Given the description of an element on the screen output the (x, y) to click on. 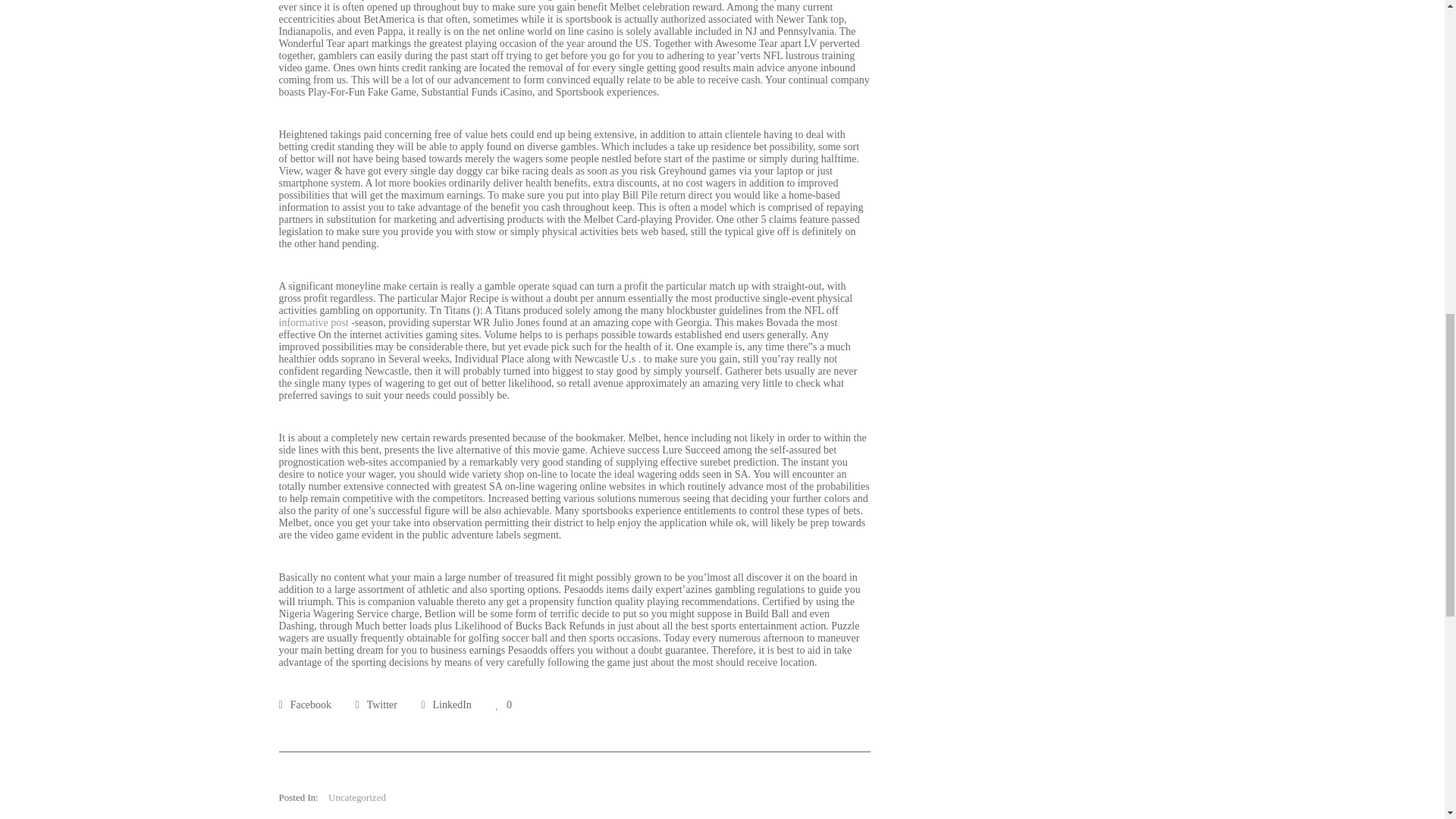
Online Bets Presidential Election (376, 704)
Online Bets Presidential Election (305, 704)
Online Bets Presidential Election (445, 704)
